Given the description of an element on the screen output the (x, y) to click on. 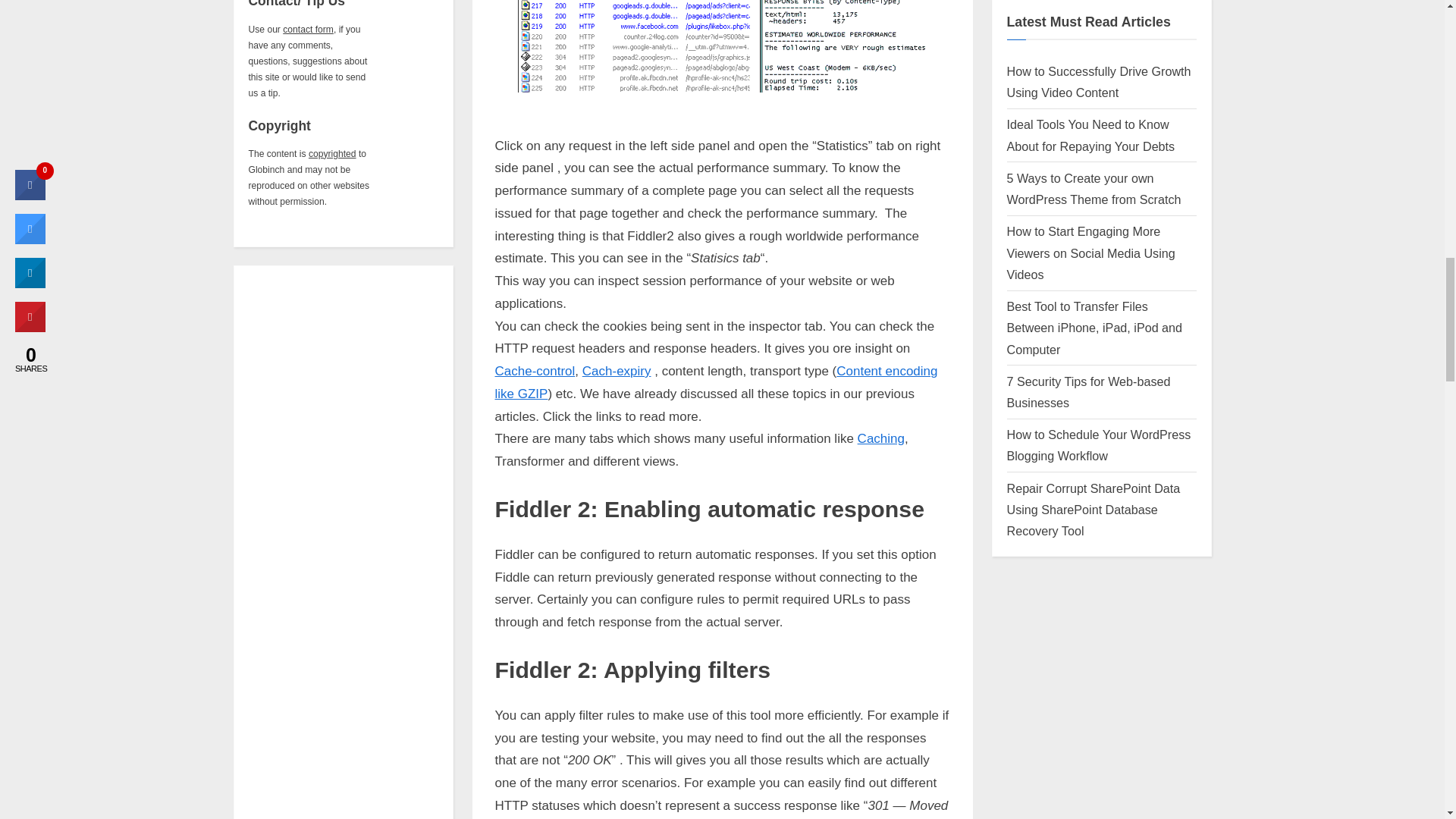
Cache-control (535, 370)
Content encoding like GZIP (716, 382)
Caching (880, 438)
Cach-expiry (616, 370)
